Given the description of an element on the screen output the (x, y) to click on. 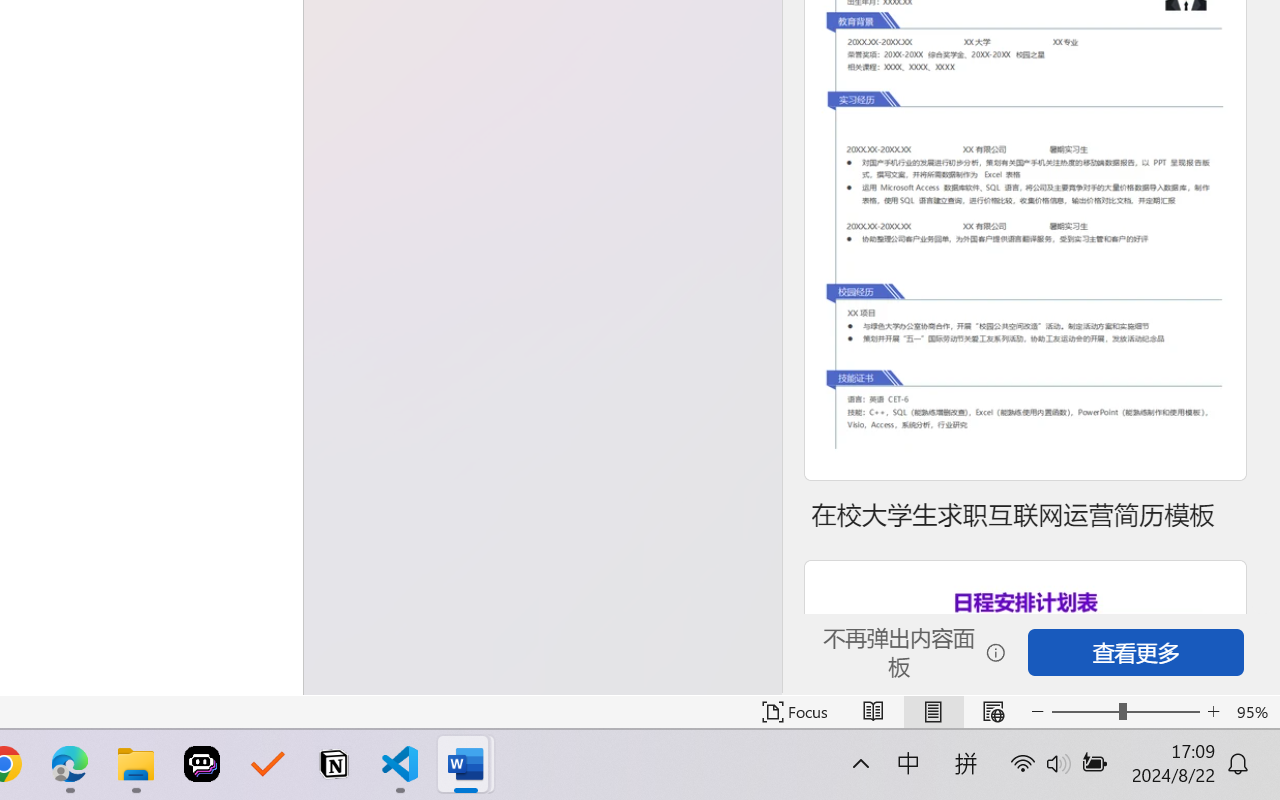
Zoom 95% (1253, 712)
